Given the description of an element on the screen output the (x, y) to click on. 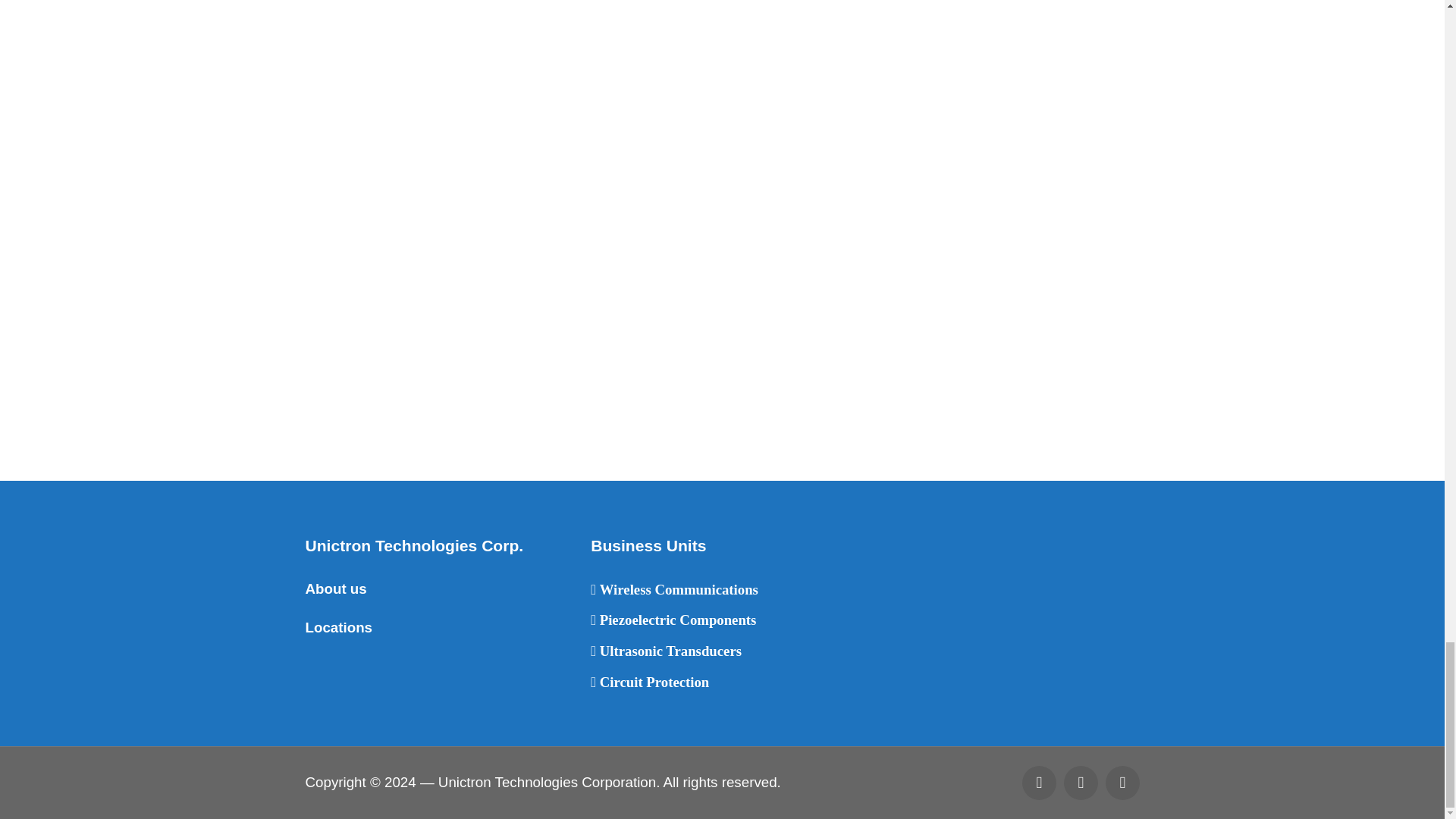
Piezoelectric Components (673, 619)
Linkedin (1039, 782)
About us (335, 588)
Locations (338, 627)
Ultrasonic Transducers (666, 650)
Wireless Communications (674, 589)
Circuit Protection (650, 682)
